Given the description of an element on the screen output the (x, y) to click on. 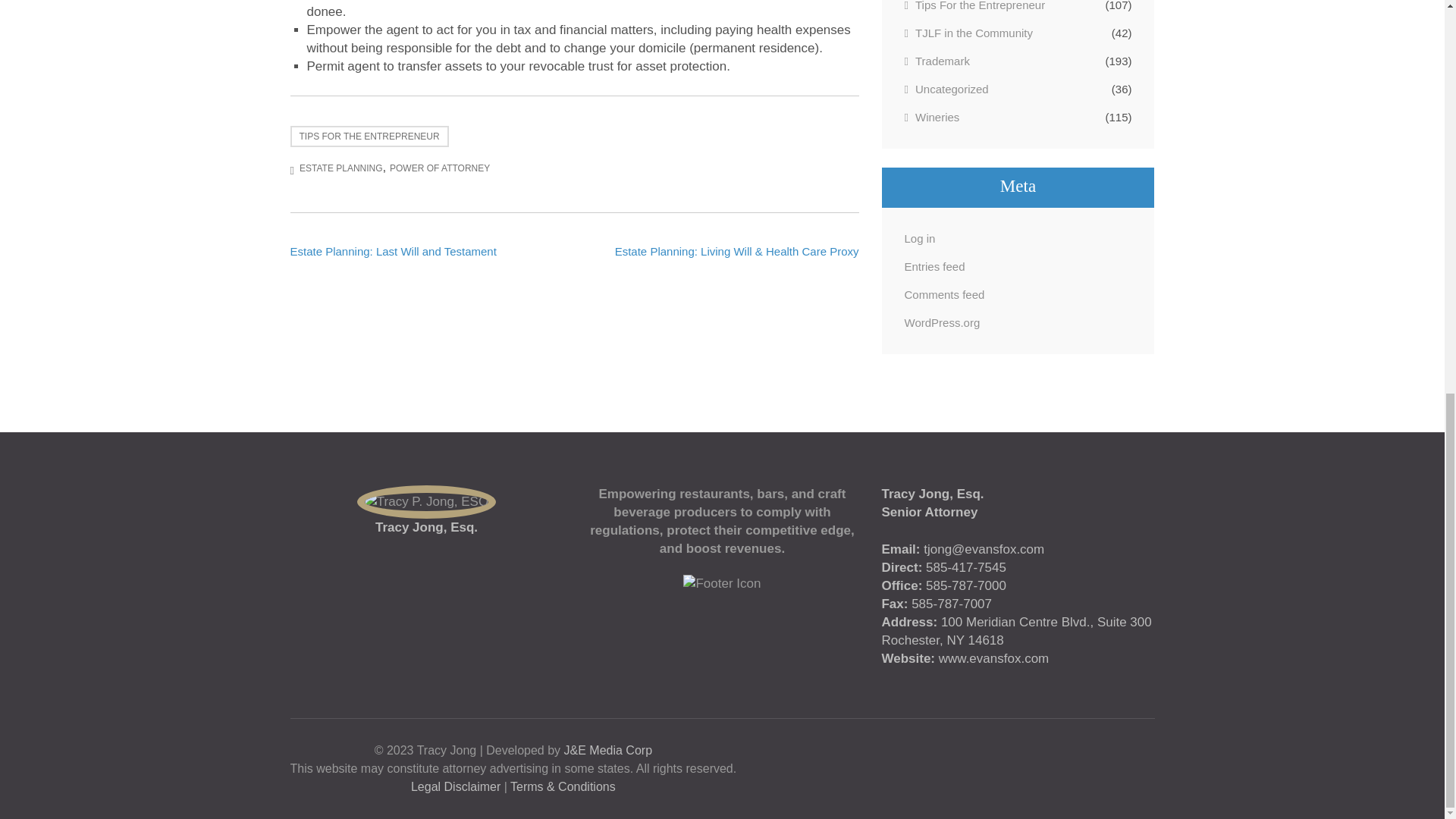
Wineries (931, 117)
TJLF in the Community (968, 32)
Log in (919, 237)
Uncategorized (946, 88)
POWER OF ATTORNEY (439, 167)
Entries feed (933, 266)
Trademark (936, 61)
ESTATE PLANNING (340, 167)
TIPS FOR THE ENTREPRENEUR (368, 136)
Tips For the Entrepreneur (974, 6)
Estate Planning: Last Will and Testament (392, 250)
